Given the description of an element on the screen output the (x, y) to click on. 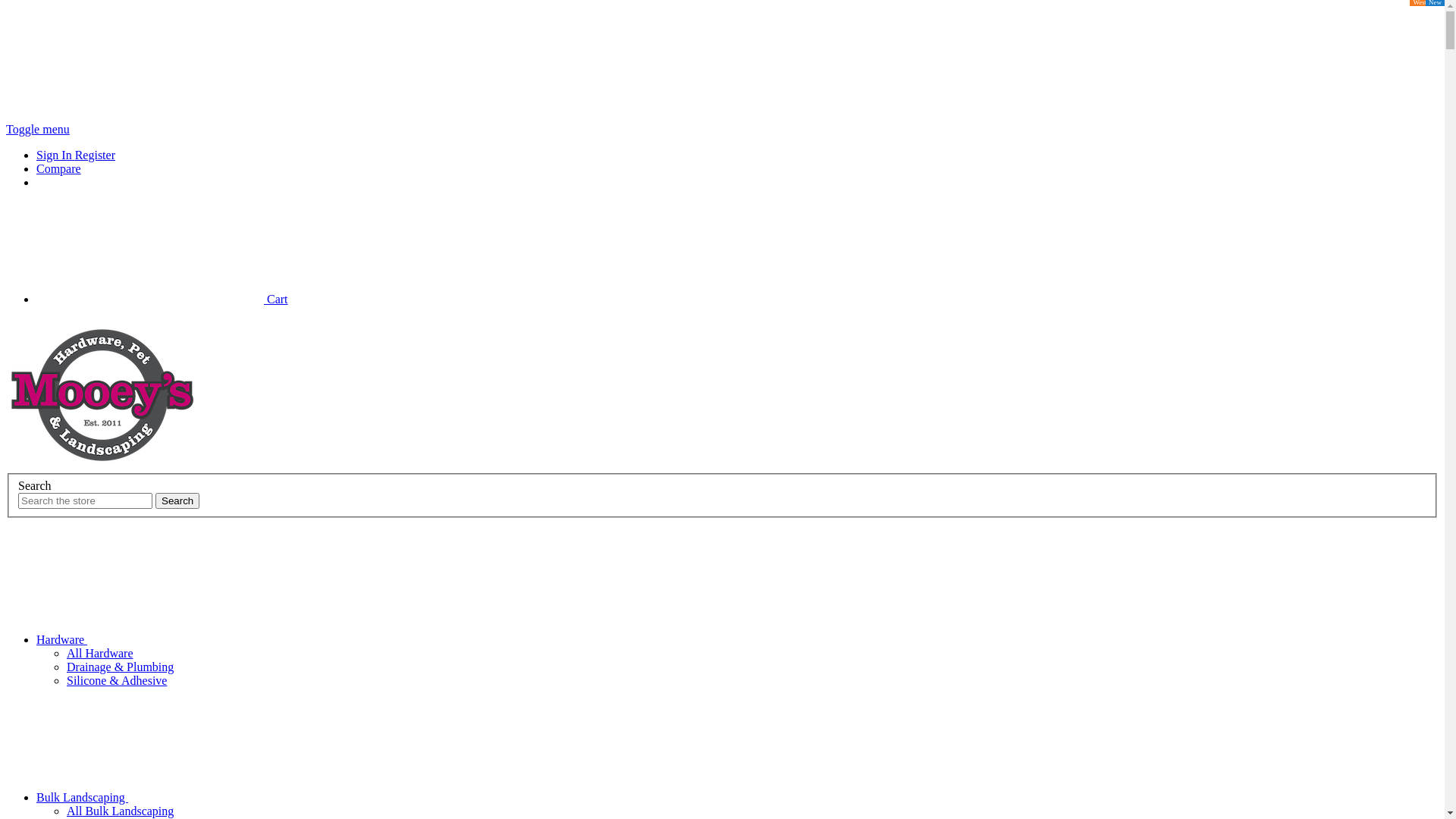
Bulk Landscaping Element type: text (195, 796)
All Bulk Landscaping Element type: text (119, 810)
Search Element type: text (177, 500)
Silicone & Adhesive Element type: text (116, 680)
Register Element type: text (95, 154)
Cart Element type: text (162, 298)
Toggle menu Element type: text (37, 128)
Hardware Element type: text (175, 639)
Compare Element type: text (58, 168)
All Hardware Element type: text (99, 652)
Drainage & Plumbing Element type: text (119, 666)
Mooey's Pty Ltd Element type: hover (103, 394)
Sign In Element type: text (55, 154)
